Given the description of an element on the screen output the (x, y) to click on. 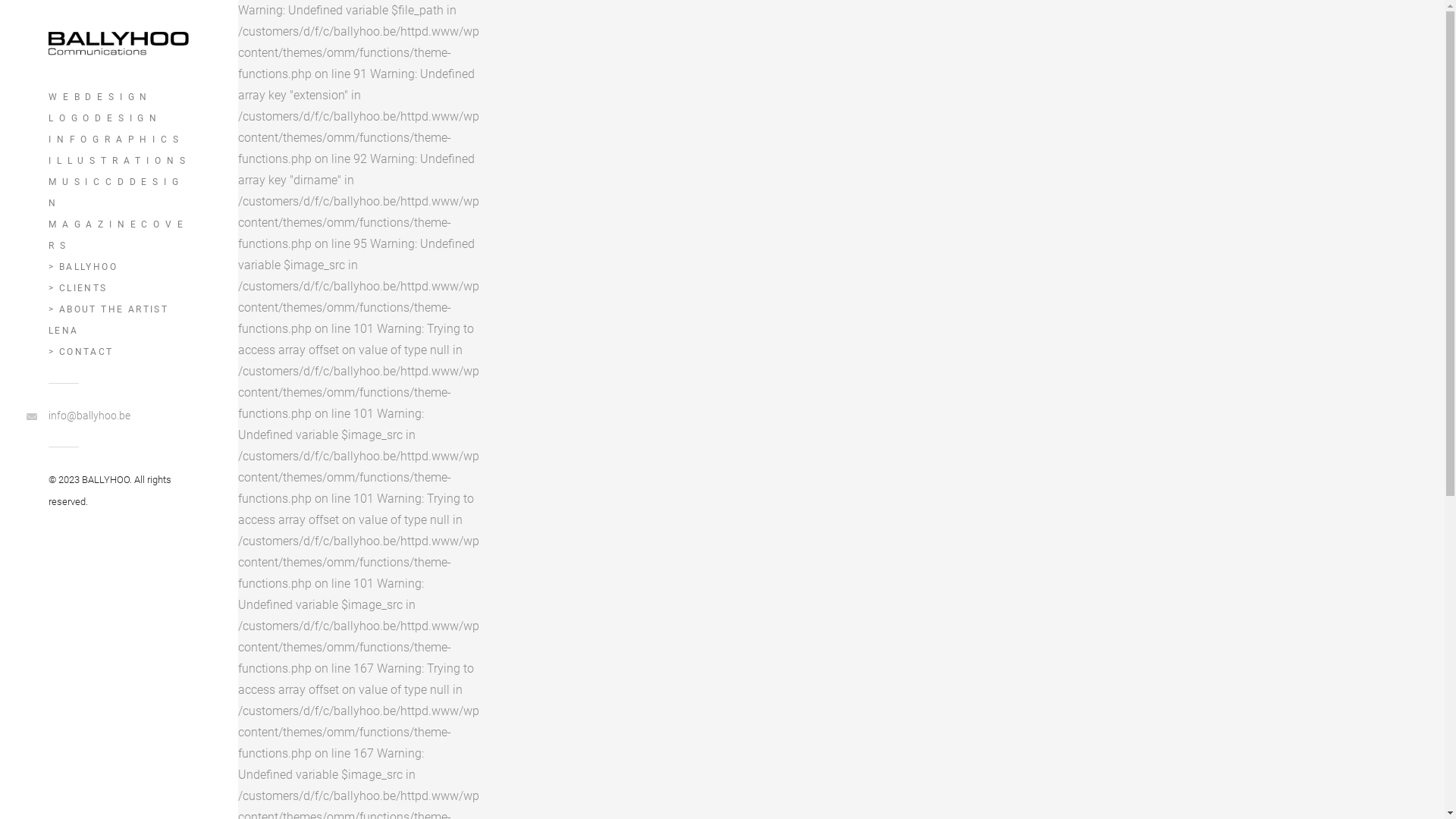
M U S I C C D D E S I G N Element type: text (118, 192)
W E B D E S I G N Element type: text (118, 96)
M A G A Z I N E C O V E R S Element type: text (118, 234)
> ABOUT THE ARTIST LENA Element type: text (118, 319)
L O G O D E S I G N Element type: text (118, 117)
info@ballyhoo.be Element type: text (118, 415)
> CLIENTS Element type: text (118, 287)
> BALLYHOO Element type: text (118, 266)
I L L U S T R A T I O N S Element type: text (118, 160)
I N F O G R A P H I C S Element type: text (118, 139)
> CONTACT Element type: text (118, 351)
